Given the description of an element on the screen output the (x, y) to click on. 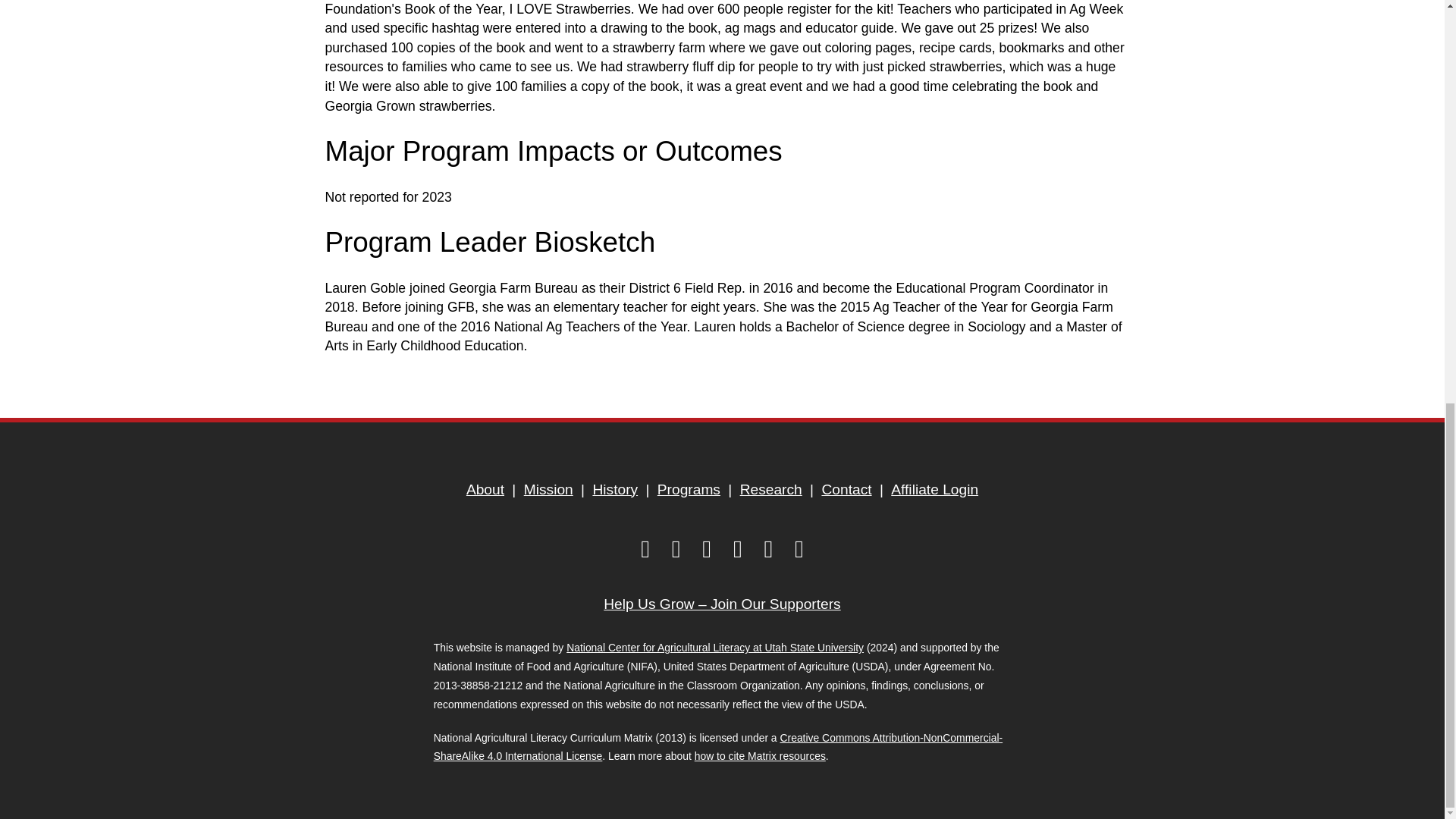
Mission (547, 490)
Affiliate Login (933, 490)
History (615, 490)
Contact (845, 490)
Programs (688, 490)
About (485, 490)
Research (771, 490)
how to cite Matrix resources (759, 756)
